Given the description of an element on the screen output the (x, y) to click on. 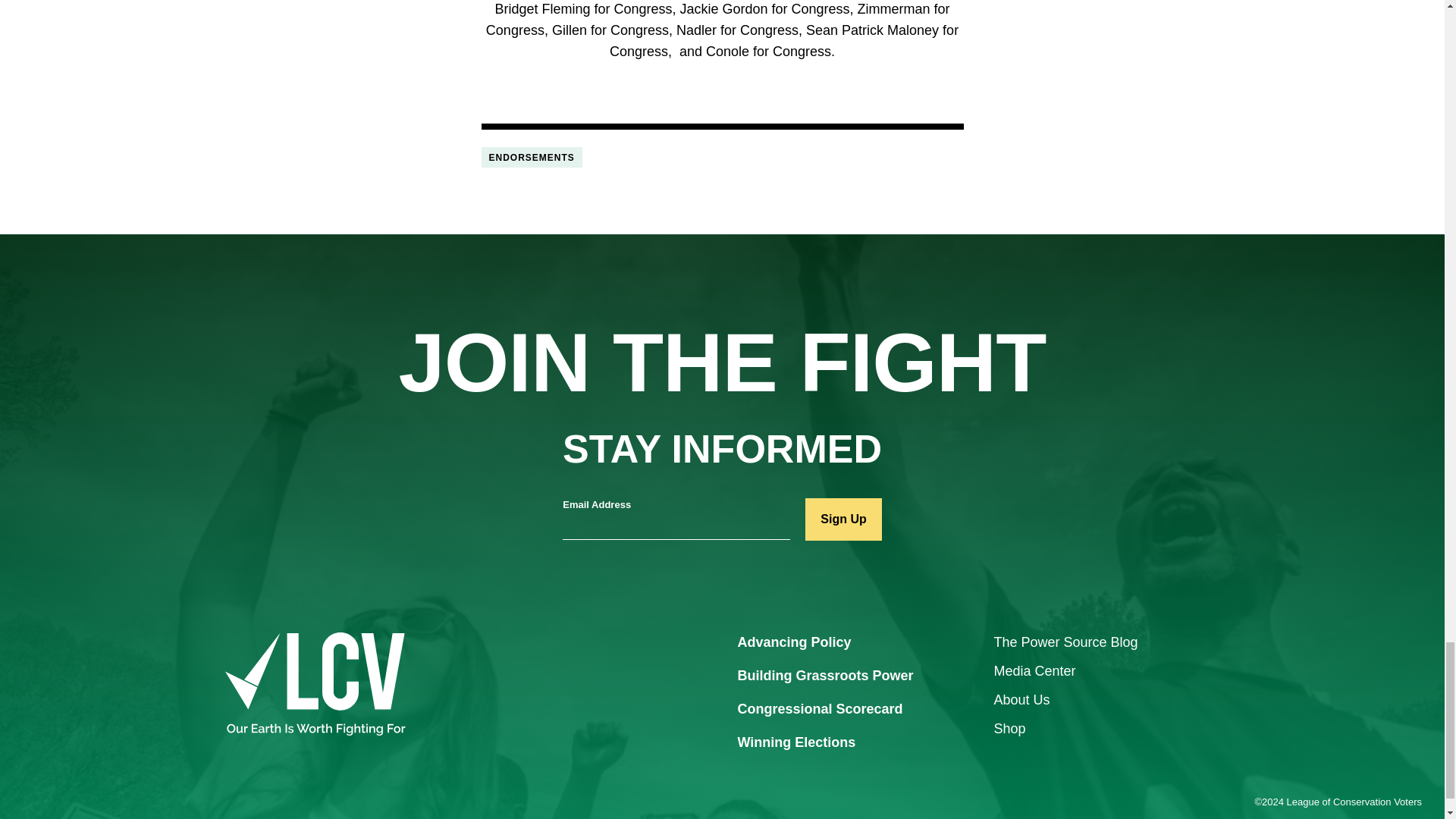
Sign Up (842, 518)
Winning Elections (796, 743)
Advancing Policy (793, 643)
Sign Up (842, 518)
Congressional Scorecard (819, 710)
Building Grassroots Power (824, 676)
ENDORSEMENTS (530, 157)
